Given the description of an element on the screen output the (x, y) to click on. 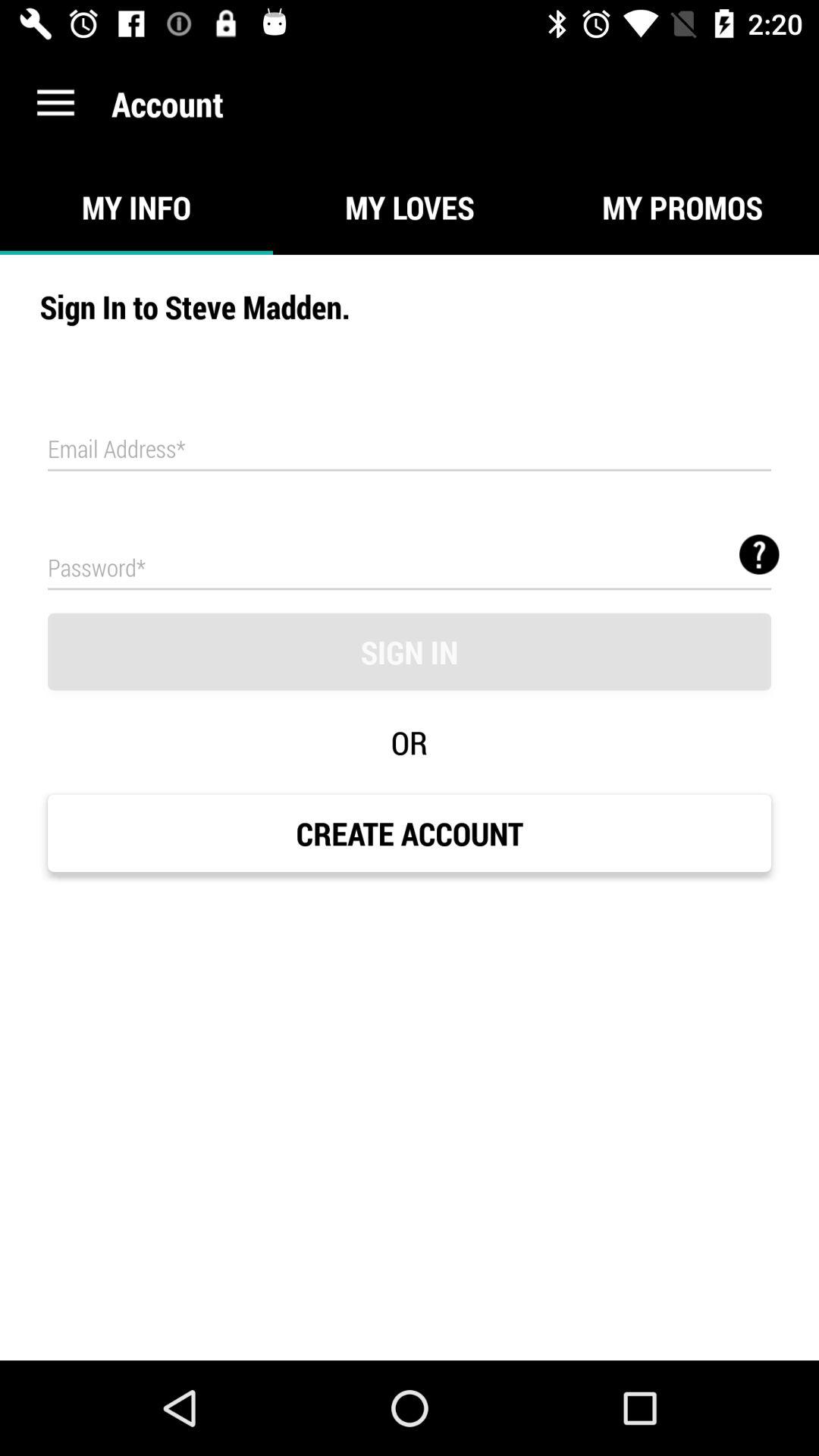
area to input email (409, 449)
